Given the description of an element on the screen output the (x, y) to click on. 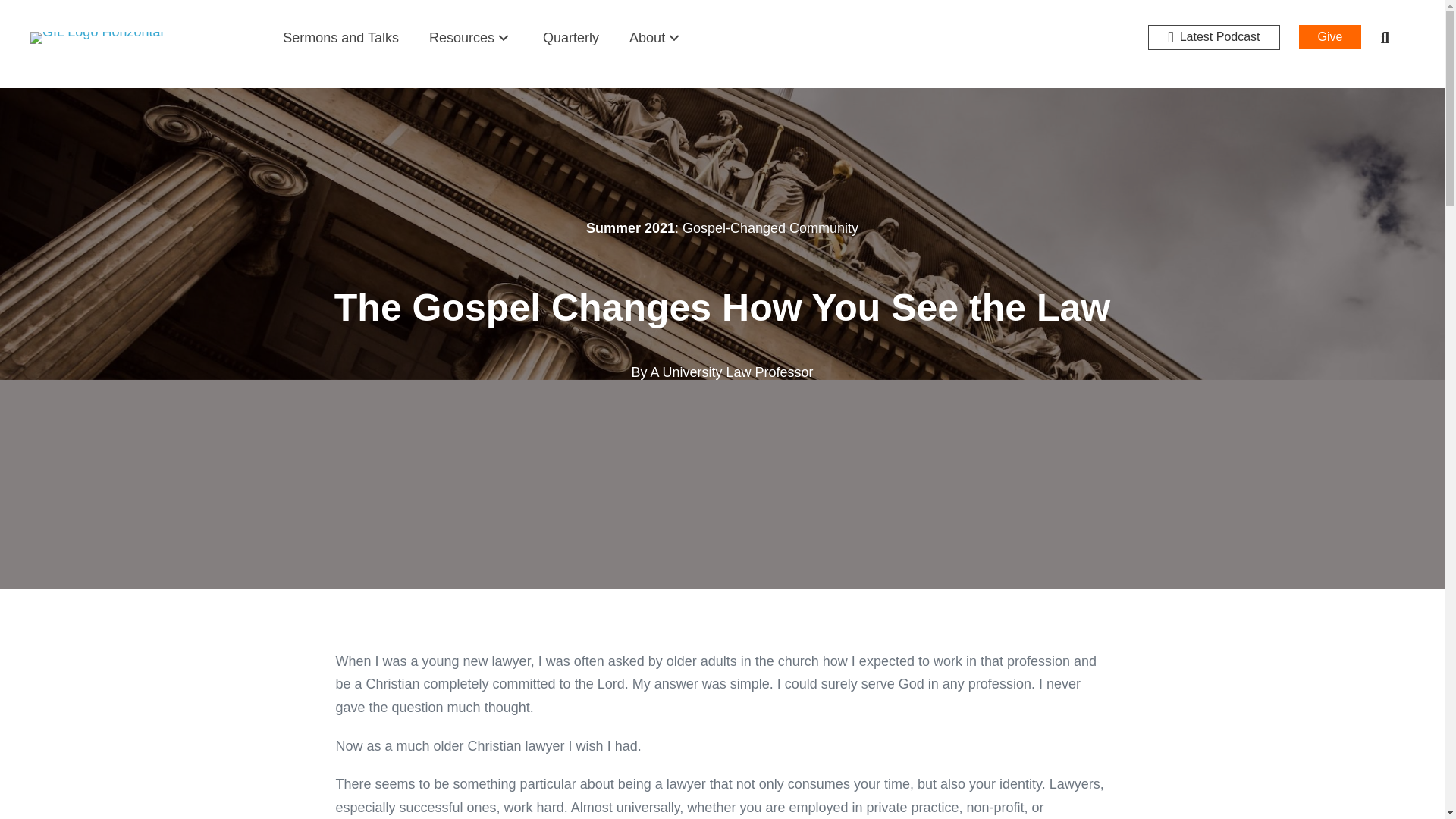
Latest Podcast (1213, 37)
About (655, 37)
Sermons and Talks (340, 37)
GIL Logo Horizontal (96, 37)
Resources (470, 37)
Quarterly (571, 37)
Give (1329, 37)
